Given the description of an element on the screen output the (x, y) to click on. 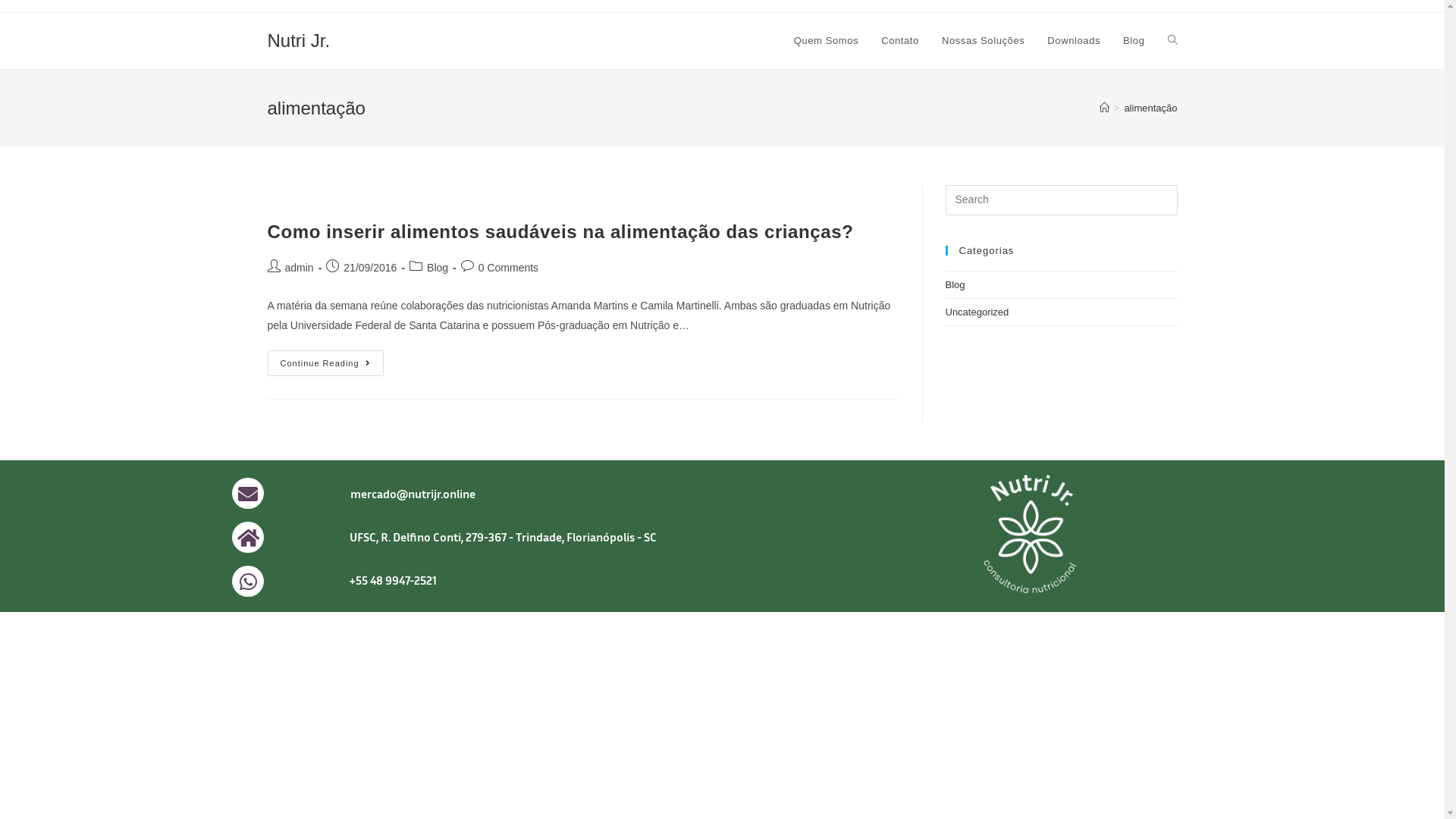
admin Element type: text (299, 267)
Uncategorized Element type: text (976, 311)
Blog Element type: text (437, 267)
DEPOIMENTOS NUTRIJR Element type: hover (1032, 535)
Quem Somos Element type: text (825, 40)
Downloads Element type: text (1073, 40)
Contato Element type: text (899, 40)
Blog Element type: text (1133, 40)
Blog Element type: text (954, 284)
0 Comments Element type: text (508, 267)
Continue Reading Element type: text (324, 363)
Nutri Jr. Element type: text (297, 40)
